Given the description of an element on the screen output the (x, y) to click on. 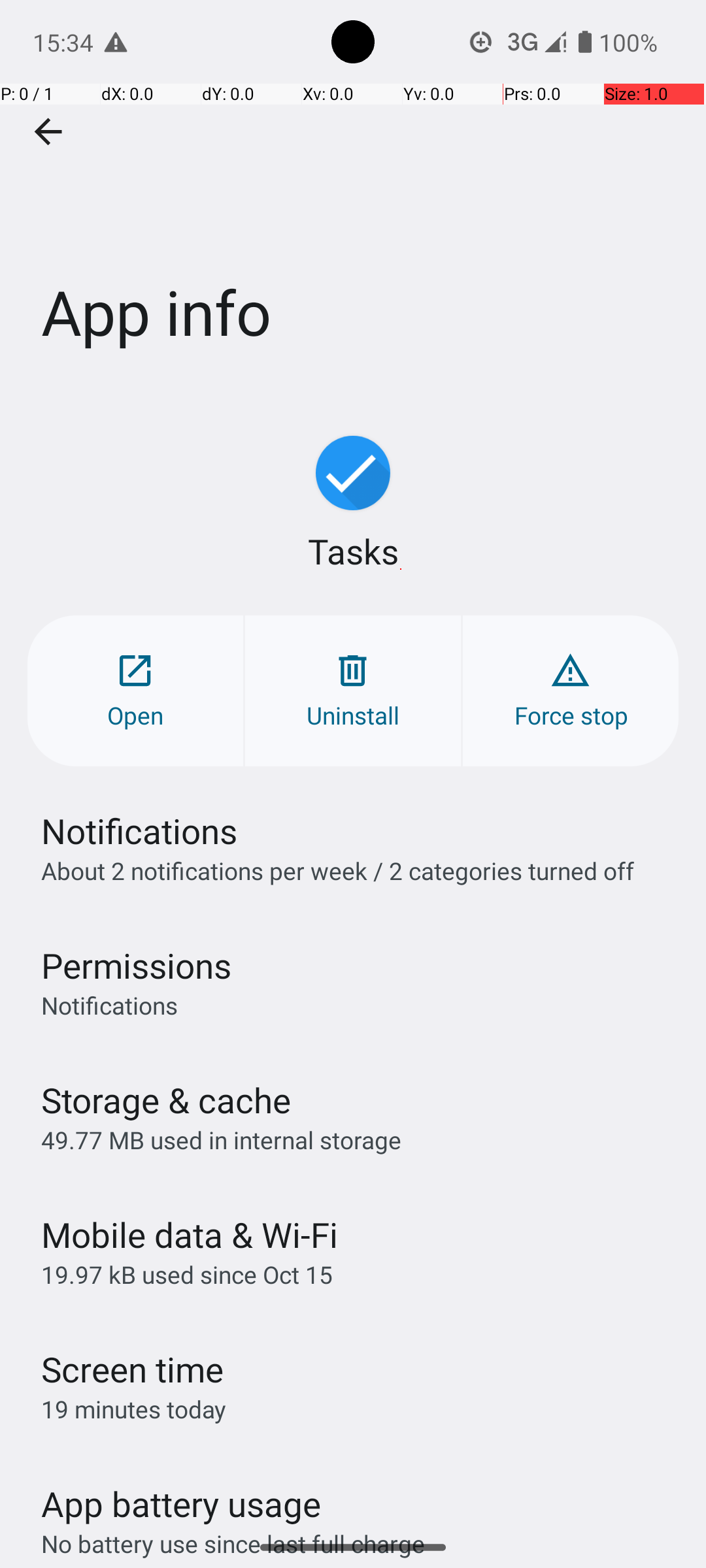
Open Element type: android.widget.Button (135, 690)
Uninstall Element type: android.widget.Button (352, 690)
Force stop Element type: android.widget.Button (570, 690)
About 2 notifications per week / 2 categories turned off Element type: android.widget.TextView (337, 870)
Permissions Element type: android.widget.TextView (136, 965)
Storage & cache Element type: android.widget.TextView (166, 1099)
49.77 MB used in internal storage Element type: android.widget.TextView (221, 1139)
Mobile data & Wi‑Fi Element type: android.widget.TextView (189, 1234)
19.97 kB used since Oct 15 Element type: android.widget.TextView (186, 1273)
19 minutes today Element type: android.widget.TextView (133, 1408)
App battery usage Element type: android.widget.TextView (181, 1503)
